Given the description of an element on the screen output the (x, y) to click on. 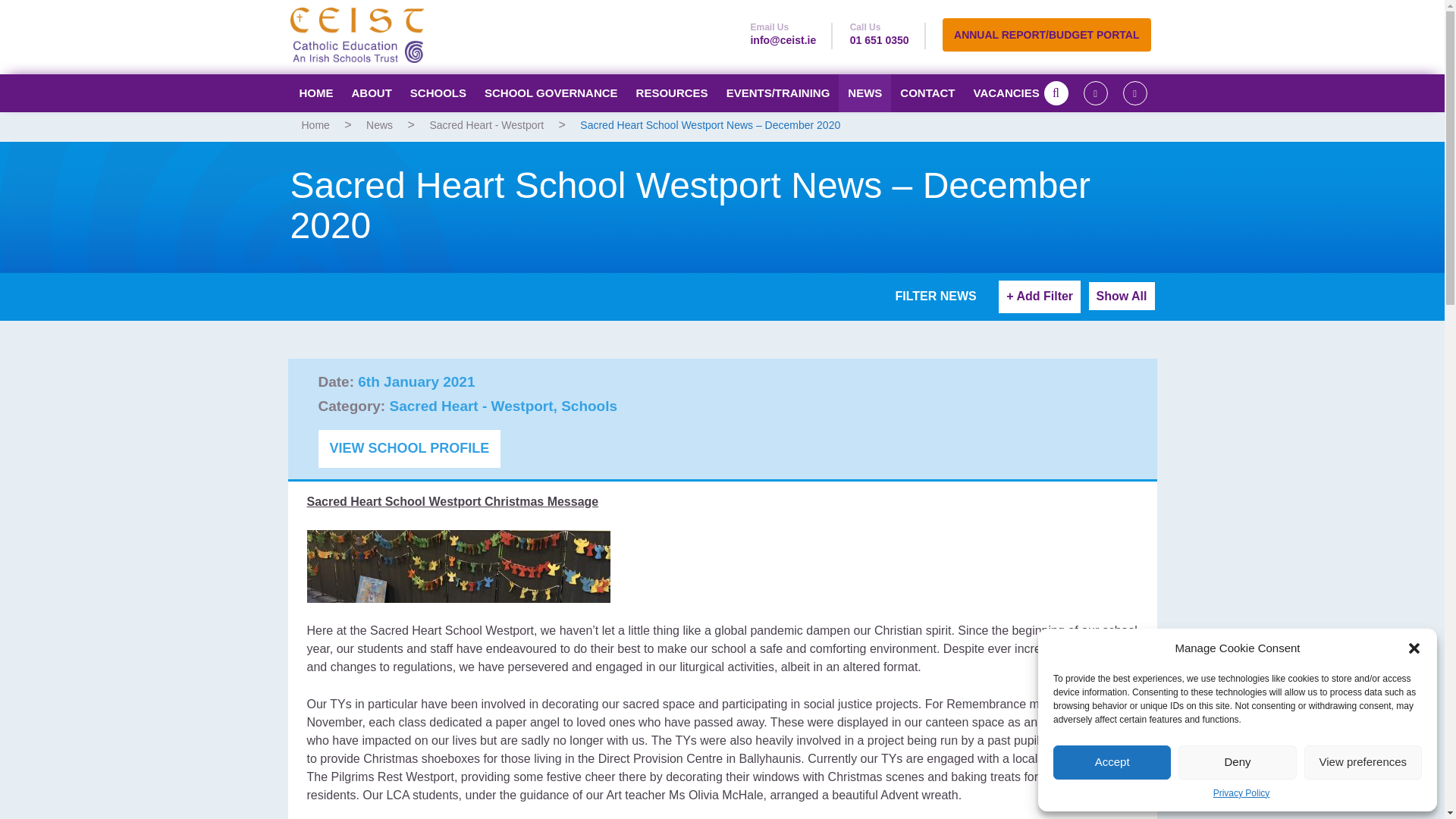
Accept (1111, 762)
HOME (315, 93)
ABOUT (371, 93)
Privacy Policy (1240, 793)
Deny (1236, 762)
View preferences (1363, 762)
01 651 0350 (879, 39)
